Given the description of an element on the screen output the (x, y) to click on. 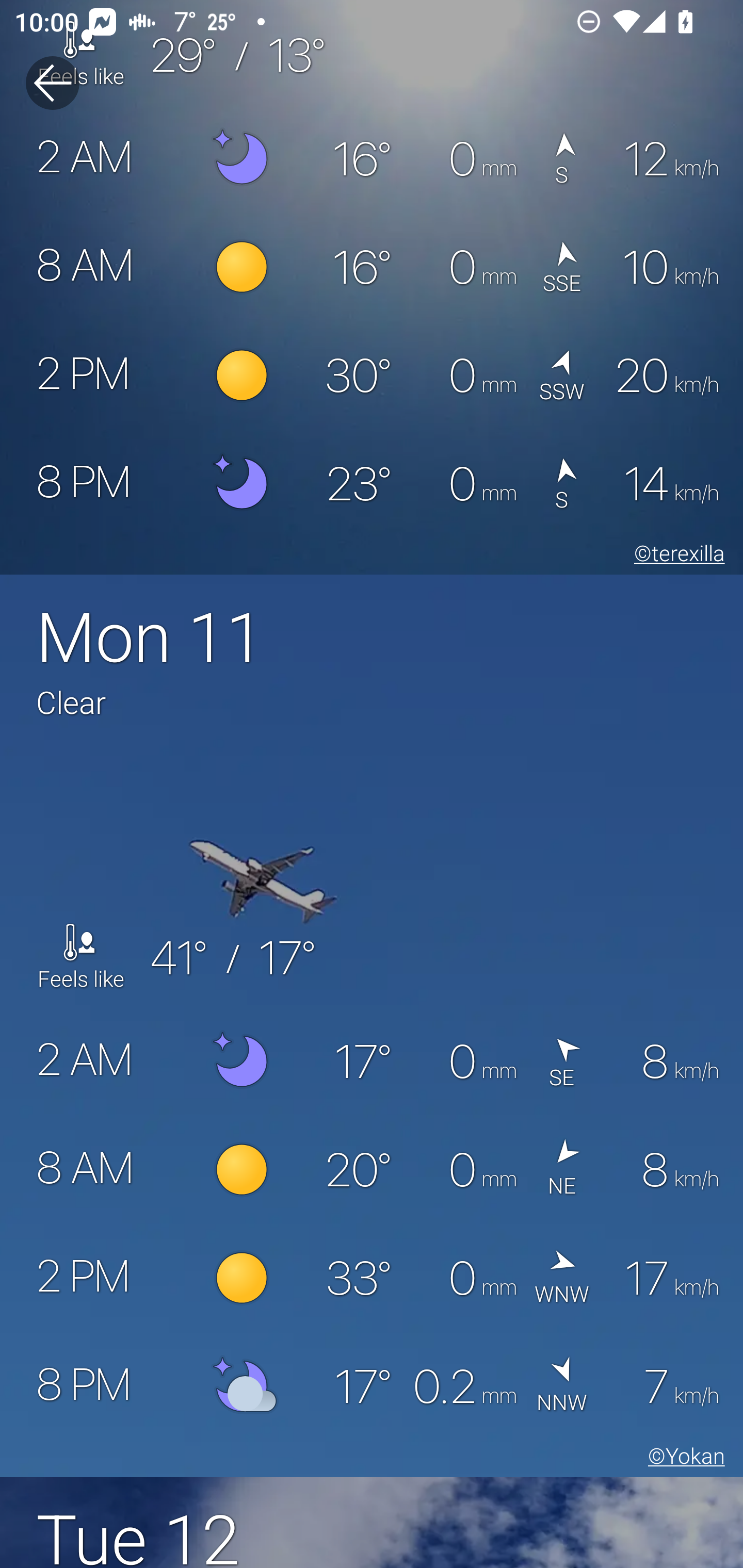
2 AM 16° 0 mm  S 12 km/h (371, 159)
8 AM 16° 0 mm  SSE 10 km/h (371, 267)
2 PM 30° 0 mm  SSW 20 km/h (371, 375)
8 PM 23° 0 mm  S 14 km/h (371, 483)
©terexilla (676, 555)
2 AM 17° 0 mm  SE 8 km/h (371, 1061)
8 AM 20° 0 mm  NE 8 km/h (371, 1170)
2 PM 33° 0 mm  WNW 17 km/h (371, 1278)
8 PM 17° 0.2 mm  NNW 7 km/h (371, 1386)
©Yokan (682, 1458)
